Given the description of an element on the screen output the (x, y) to click on. 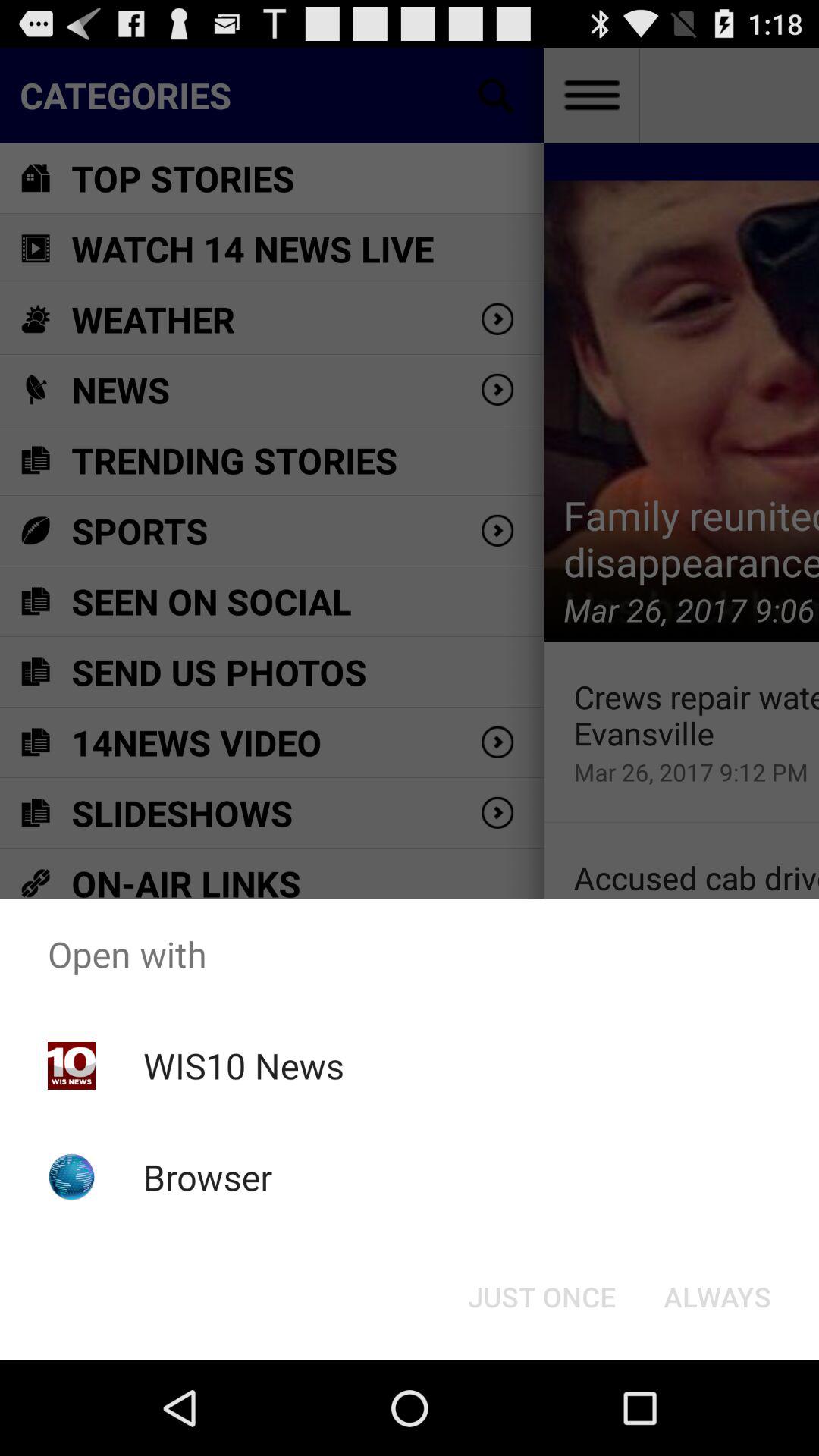
click the item below open with app (717, 1296)
